Given the description of an element on the screen output the (x, y) to click on. 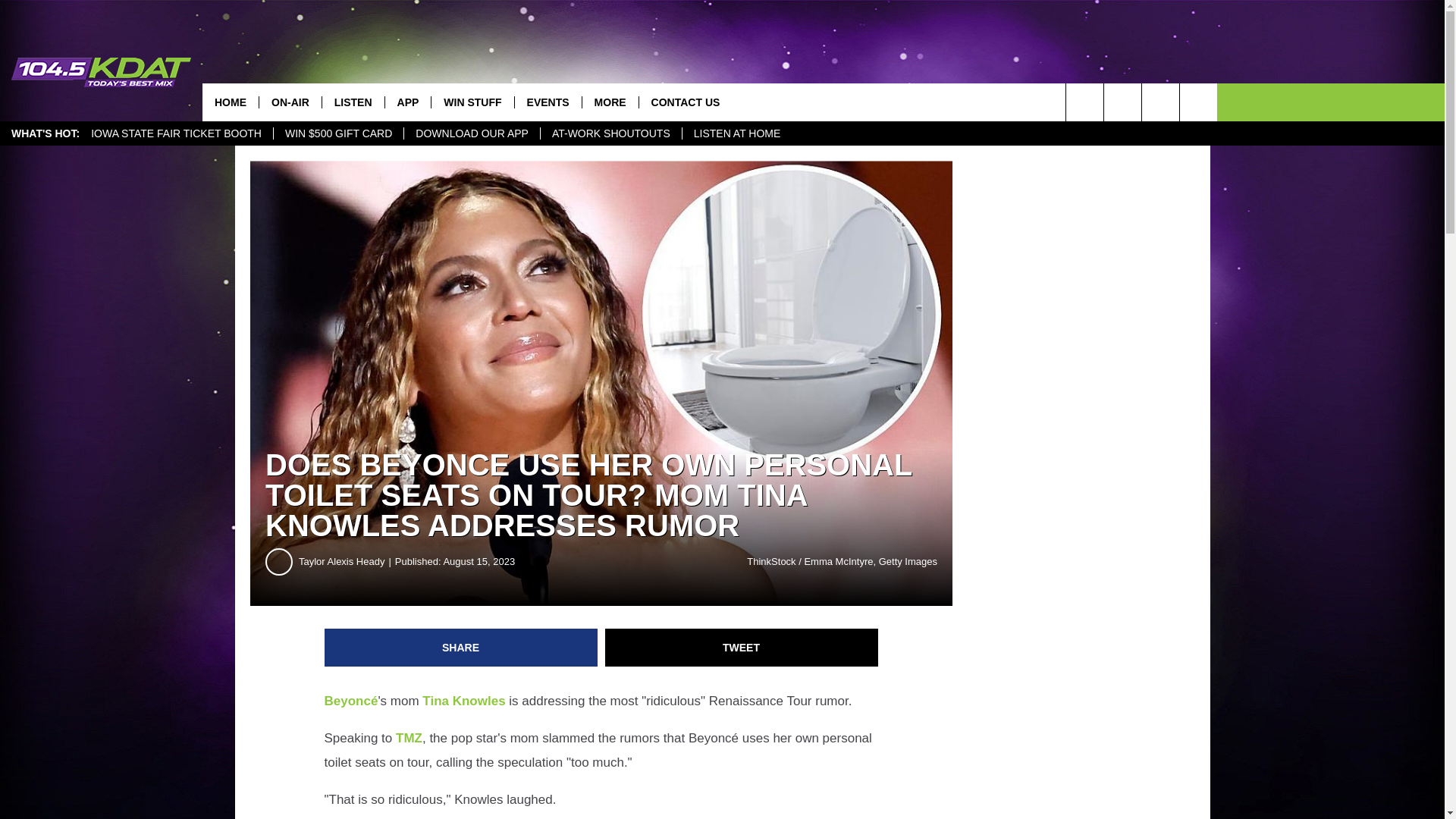
TWEET (741, 647)
DOWNLOAD OUR APP (471, 133)
WIN STUFF (471, 102)
CONTACT US (685, 102)
IOWA STATE FAIR TICKET BOOTH (176, 133)
LISTEN AT HOME (736, 133)
LISTEN (352, 102)
EVENTS (546, 102)
ON-AIR (290, 102)
SHARE (460, 647)
AT-WORK SHOUTOUTS (610, 133)
HOME (230, 102)
MORE (609, 102)
APP (407, 102)
